Given the description of an element on the screen output the (x, y) to click on. 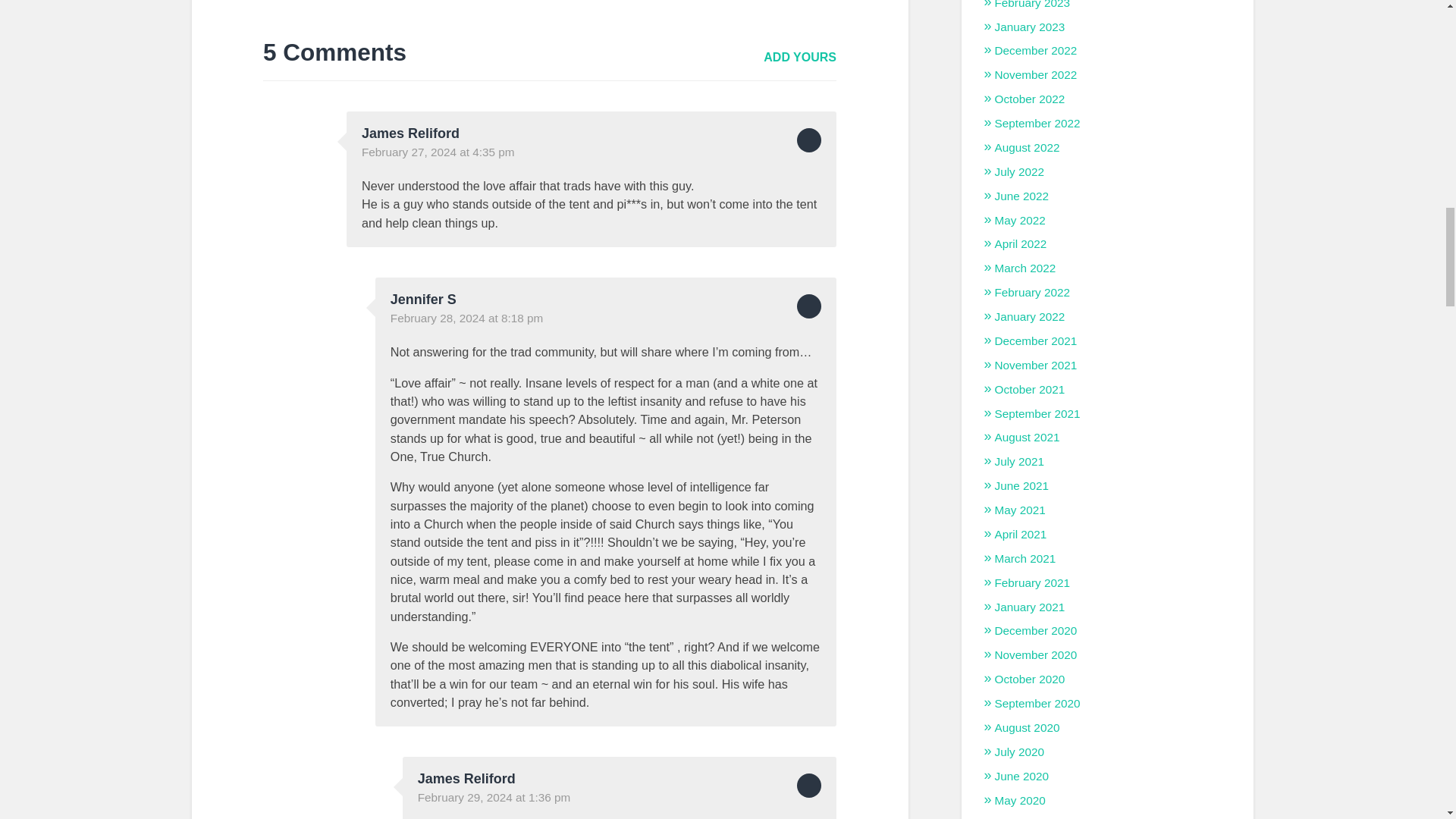
Reply (808, 306)
February 29, 2024 at 1:36 pm (493, 797)
Reply (808, 785)
February 27, 2024 at 4:35 pm (438, 151)
Reply (808, 139)
ADD YOURS (798, 56)
February 28, 2024 at 8:18 pm (466, 318)
